Given the description of an element on the screen output the (x, y) to click on. 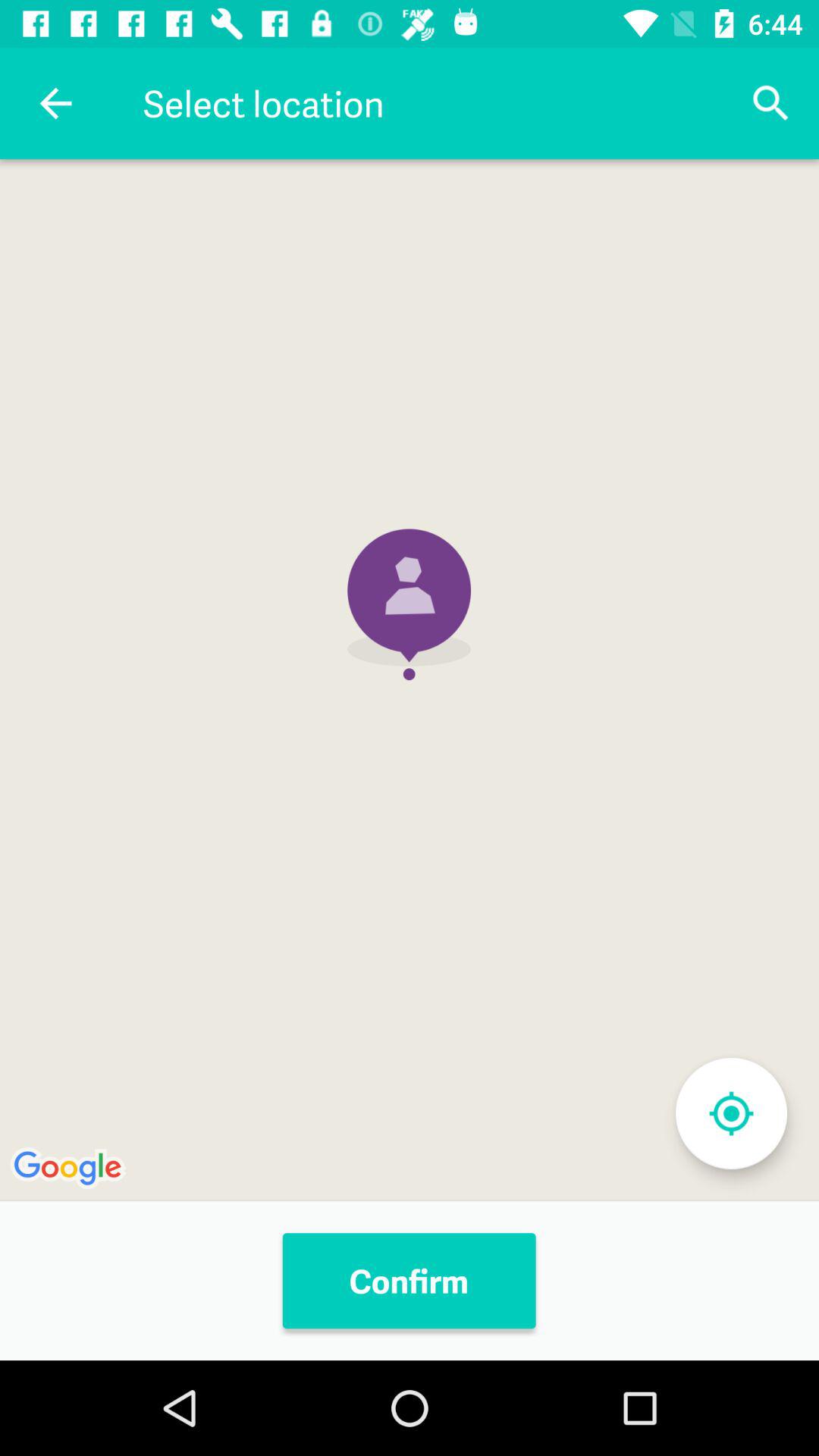
locate (731, 1113)
